Given the description of an element on the screen output the (x, y) to click on. 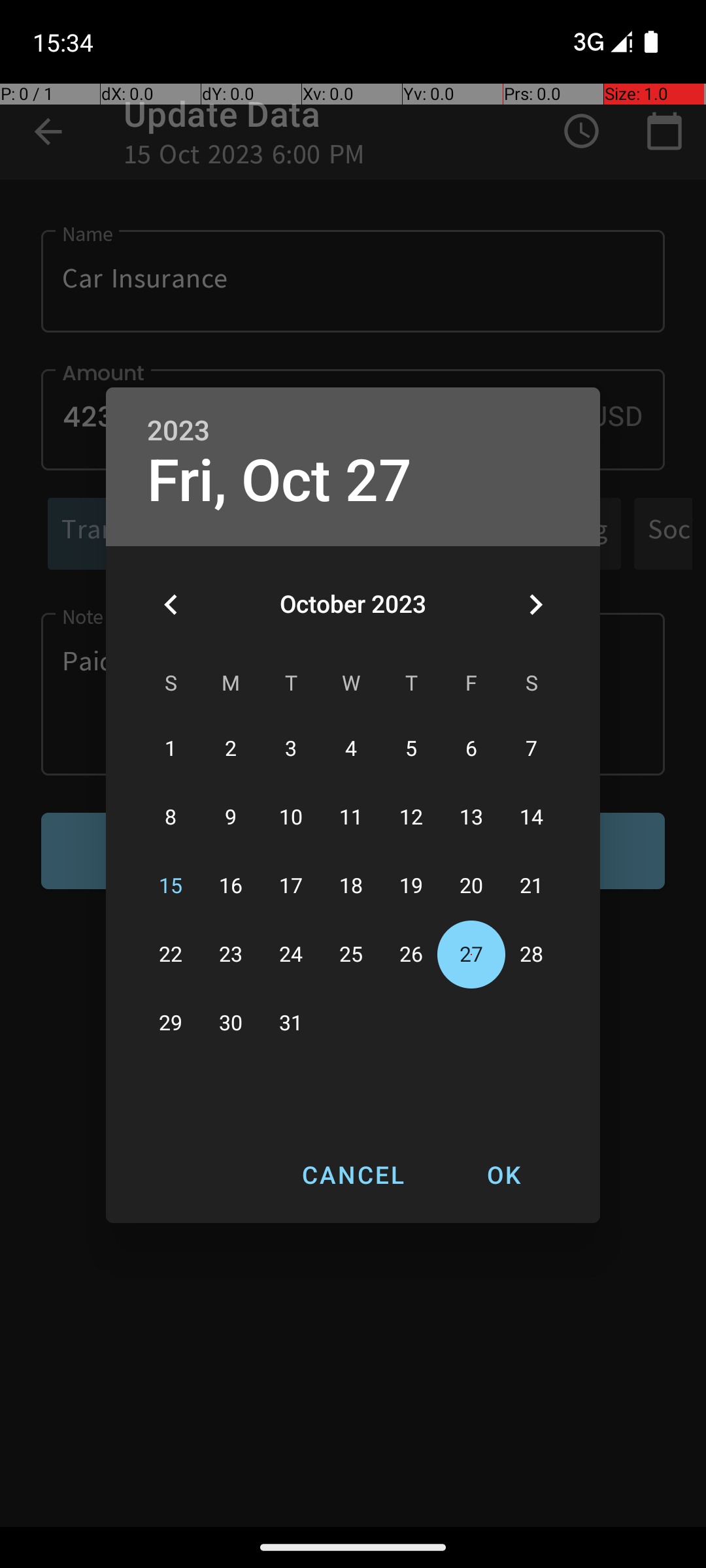
Fri, Oct 27 Element type: android.widget.TextView (279, 480)
